Given the description of an element on the screen output the (x, y) to click on. 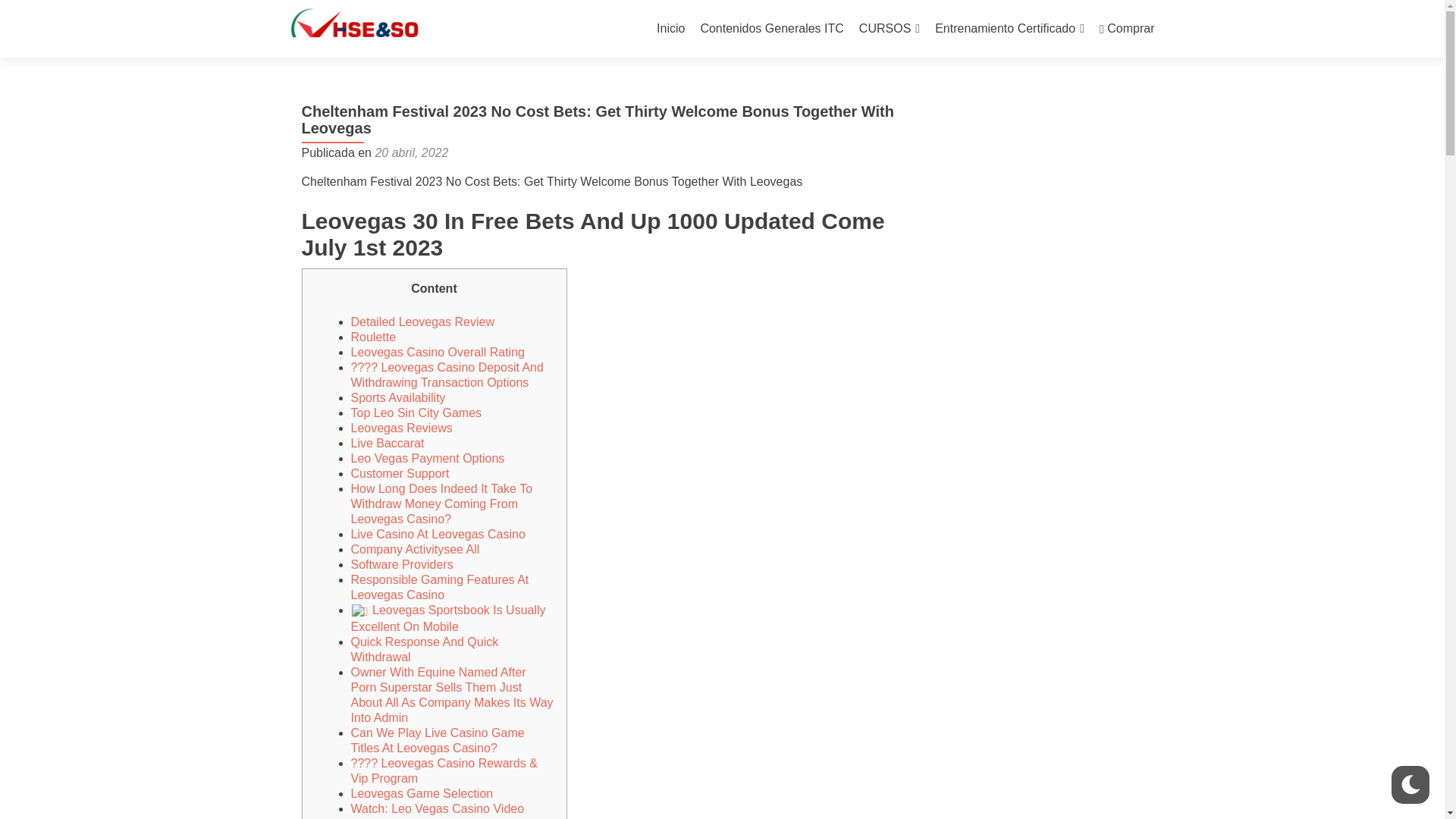
Top Leo Sin City Games (415, 412)
Live Baccarat (386, 442)
Leovegas Game Selection (421, 793)
Roulette (373, 336)
Contenidos Generales ITC (771, 28)
Entrenamiento Certificado (1009, 28)
Detailed Leovegas Review (421, 321)
Leovegas Casino Overall Rating (437, 351)
Company Activitysee All (414, 549)
Leo Vegas Payment Options (426, 458)
